Given the description of an element on the screen output the (x, y) to click on. 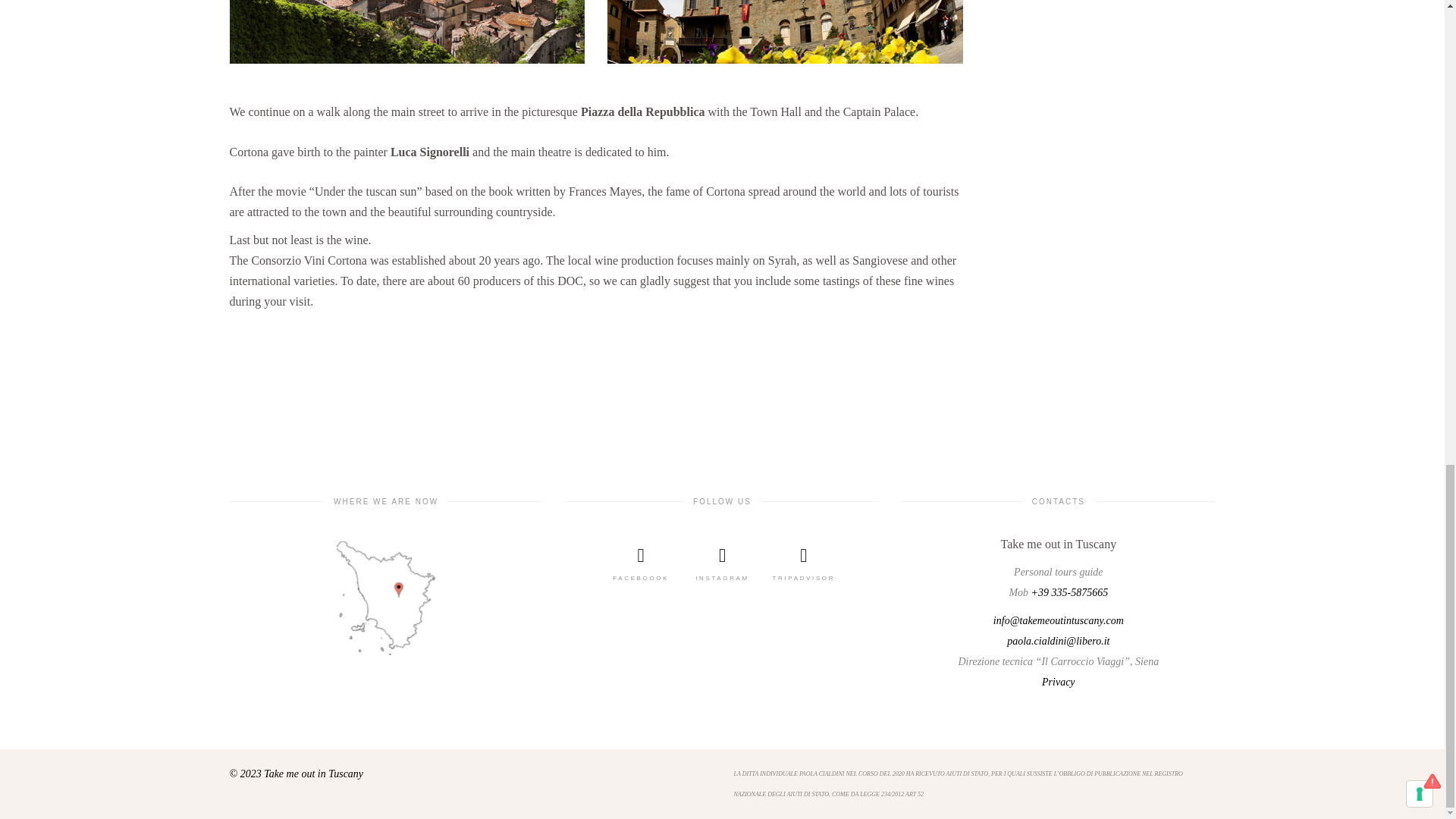
rs-595x300-cortona (406, 31)
where we are now (385, 598)
rs-595x300-cortona2 (784, 31)
